Given the description of an element on the screen output the (x, y) to click on. 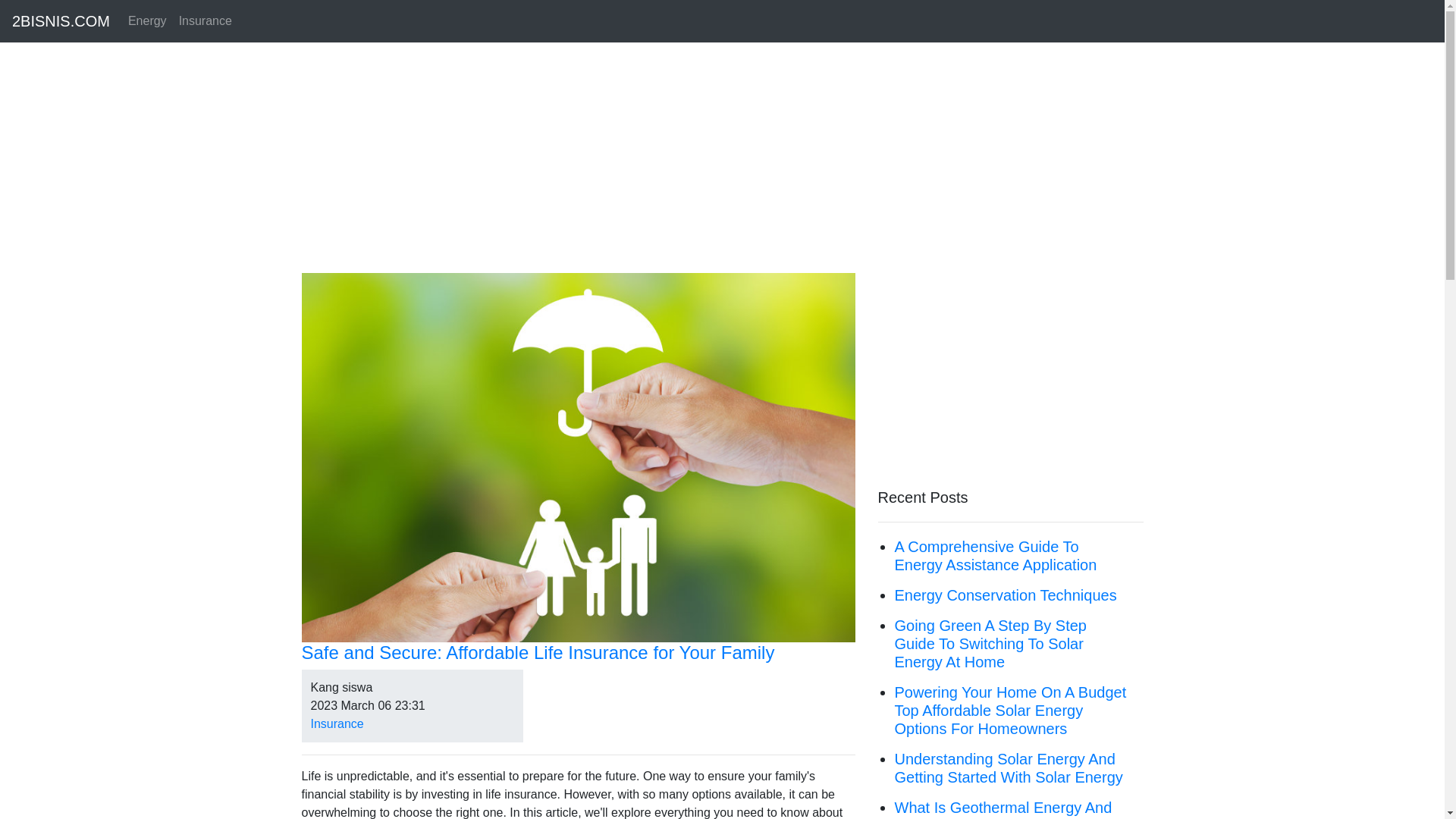
Energy Element type: text (147, 21)
Insurance Element type: text (205, 21)
Insurance Element type: text (337, 723)
Energy Conservation Techniques Element type: text (1005, 594)
Advertisement Element type: hover (722, 166)
A Comprehensive Guide To Energy Assistance Application Element type: text (995, 555)
Advertisement Element type: hover (1010, 379)
Safe and Secure: Affordable Life Insurance for Your Family Element type: text (578, 653)
2BISNIS.COM Element type: text (60, 21)
